Given the description of an element on the screen output the (x, y) to click on. 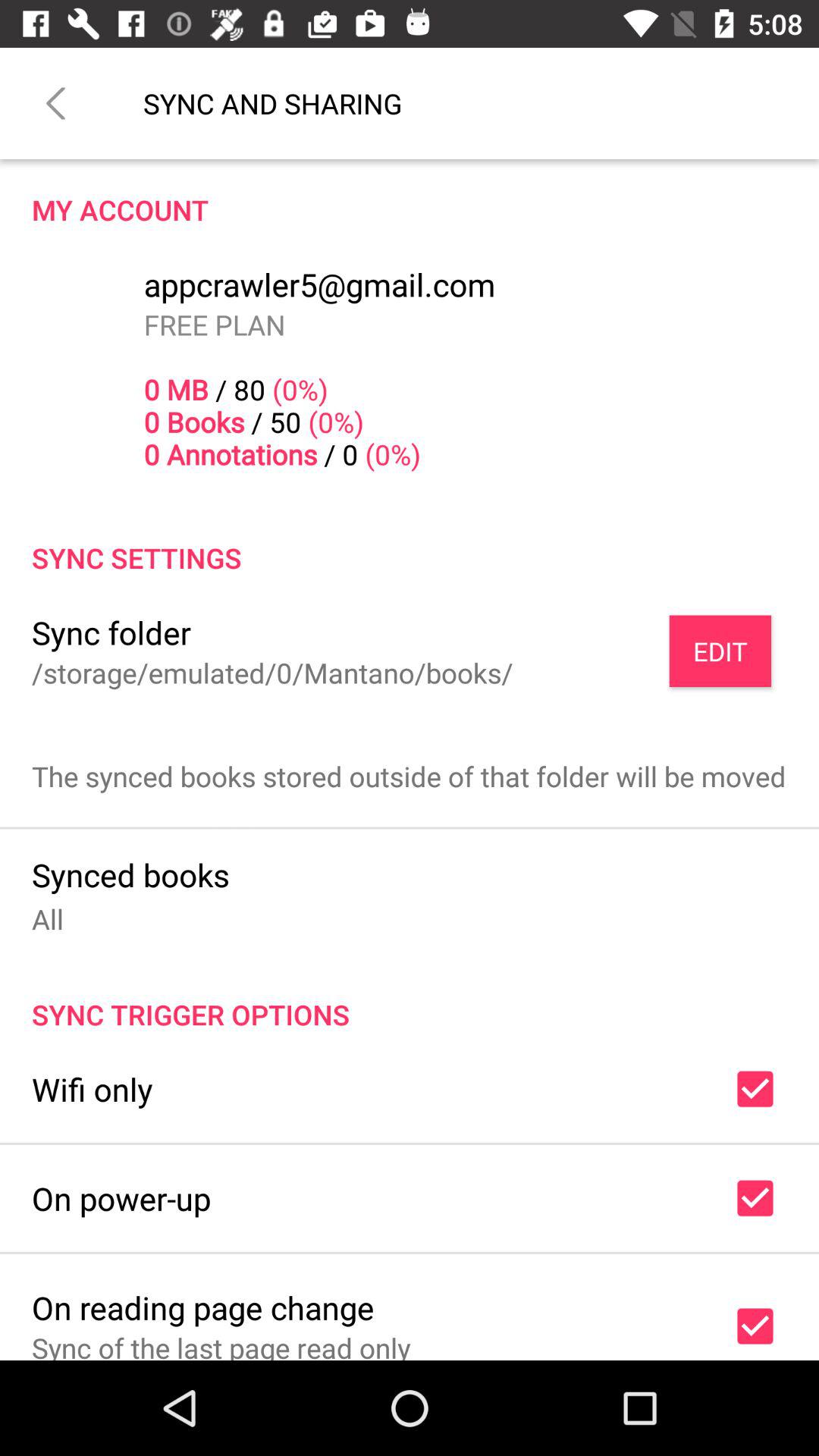
jump to the appcrawler5@gmail.com (319, 283)
